Given the description of an element on the screen output the (x, y) to click on. 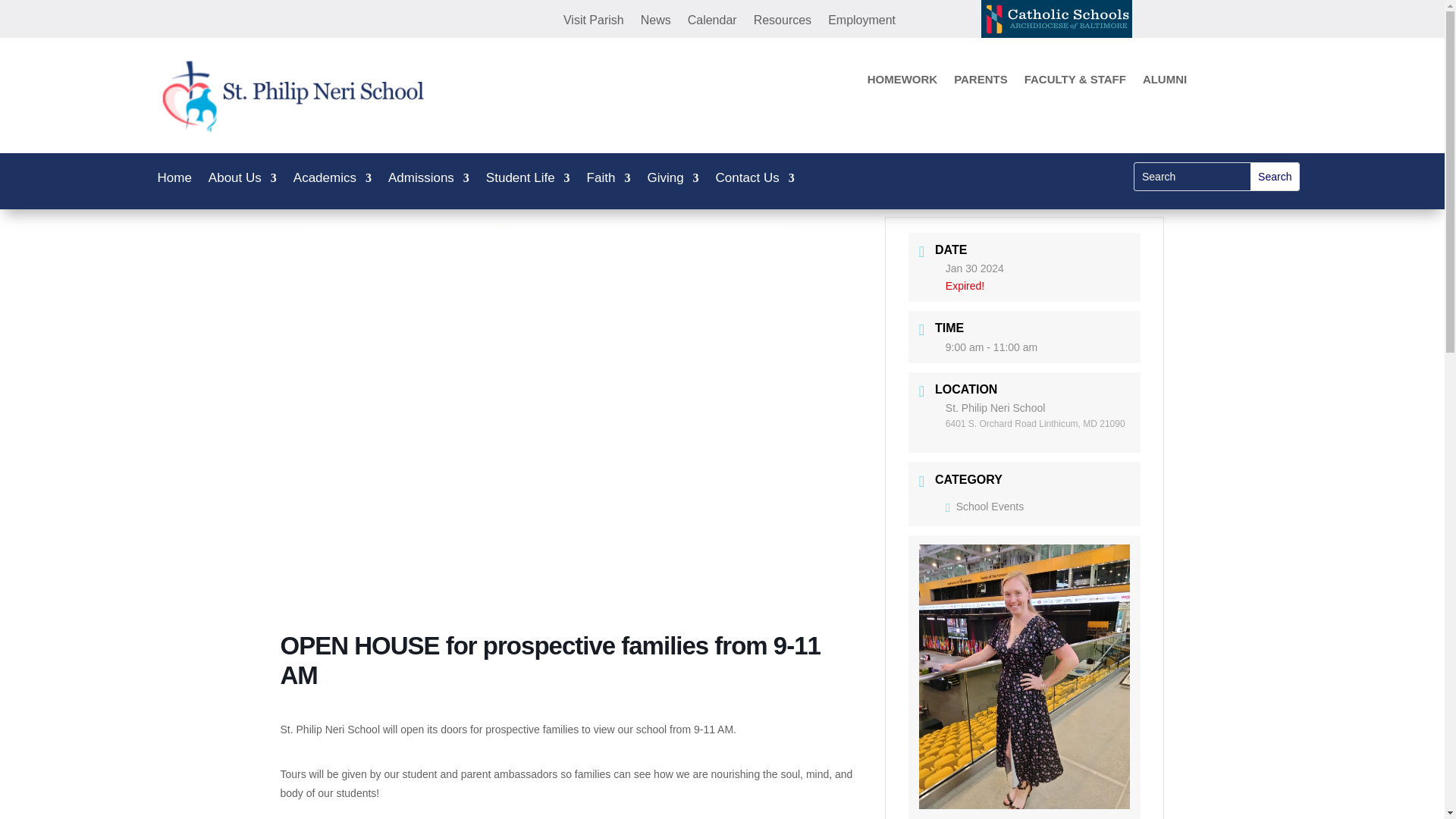
Employment (861, 23)
Resources (782, 23)
Search (1274, 176)
News (655, 23)
Screen Shot 2022-05-22 at 11.19.46 AM (307, 95)
CSAOB (1056, 18)
ALUMNI (1164, 82)
Search (1274, 176)
PARENTS (980, 82)
Visit Parish (593, 23)
HOMEWORK (902, 82)
Calendar (711, 23)
